Given the description of an element on the screen output the (x, y) to click on. 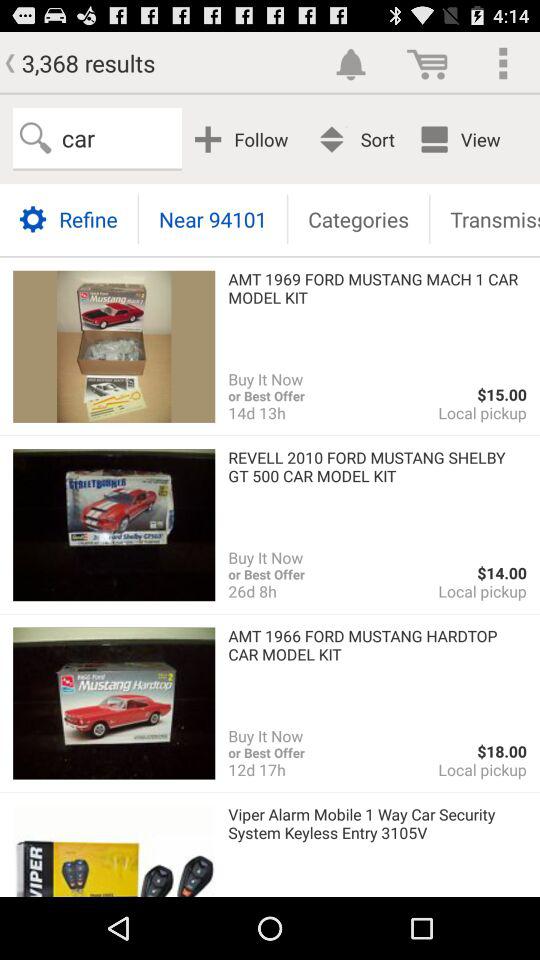
press follow item (244, 138)
